Given the description of an element on the screen output the (x, y) to click on. 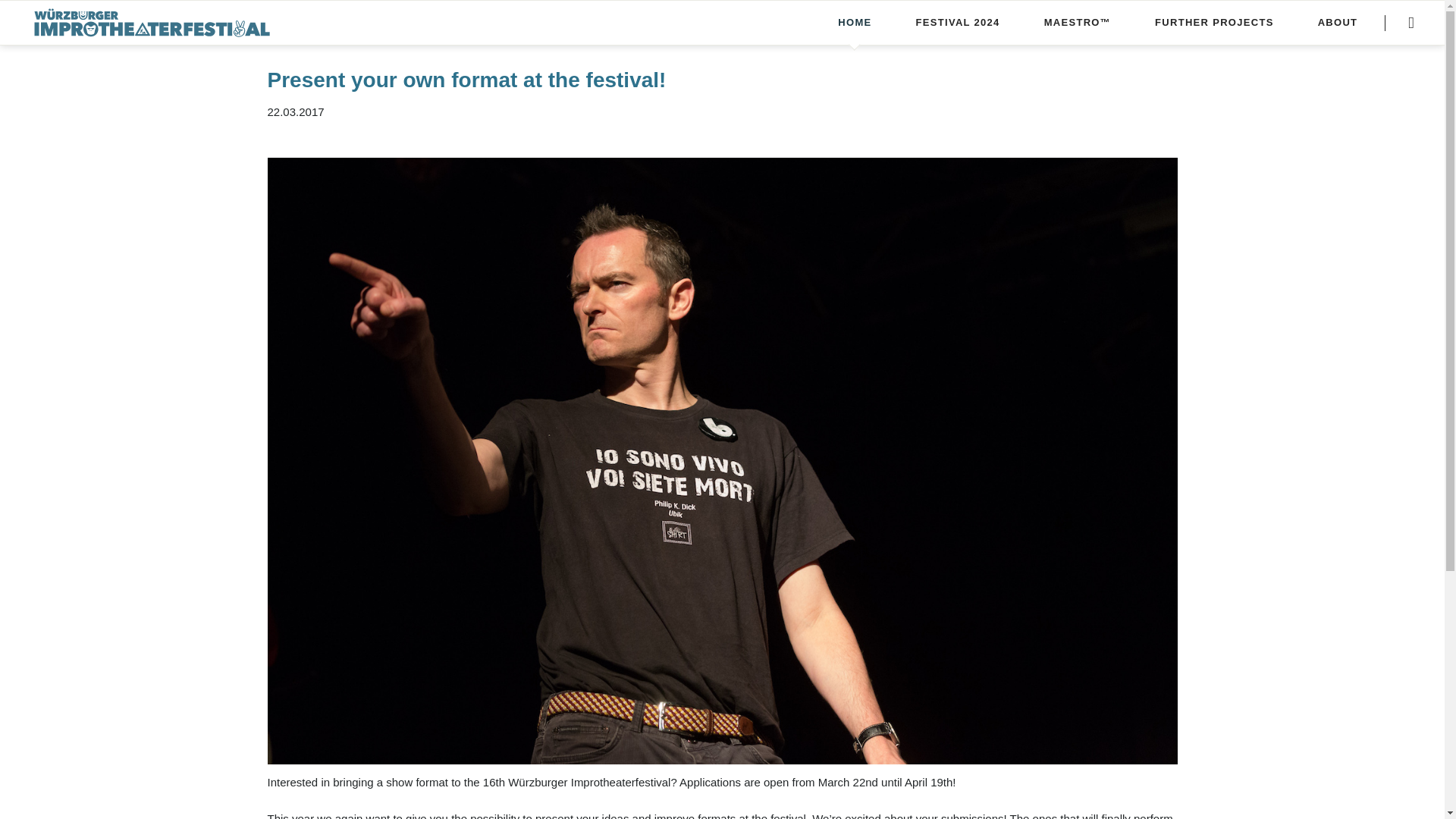
FURTHER PROJECTS (1214, 21)
Search (1410, 22)
Festival 2024 (957, 21)
FESTIVAL 2024 (957, 21)
ABOUT (1337, 21)
HOME (854, 21)
Home (854, 21)
